Given the description of an element on the screen output the (x, y) to click on. 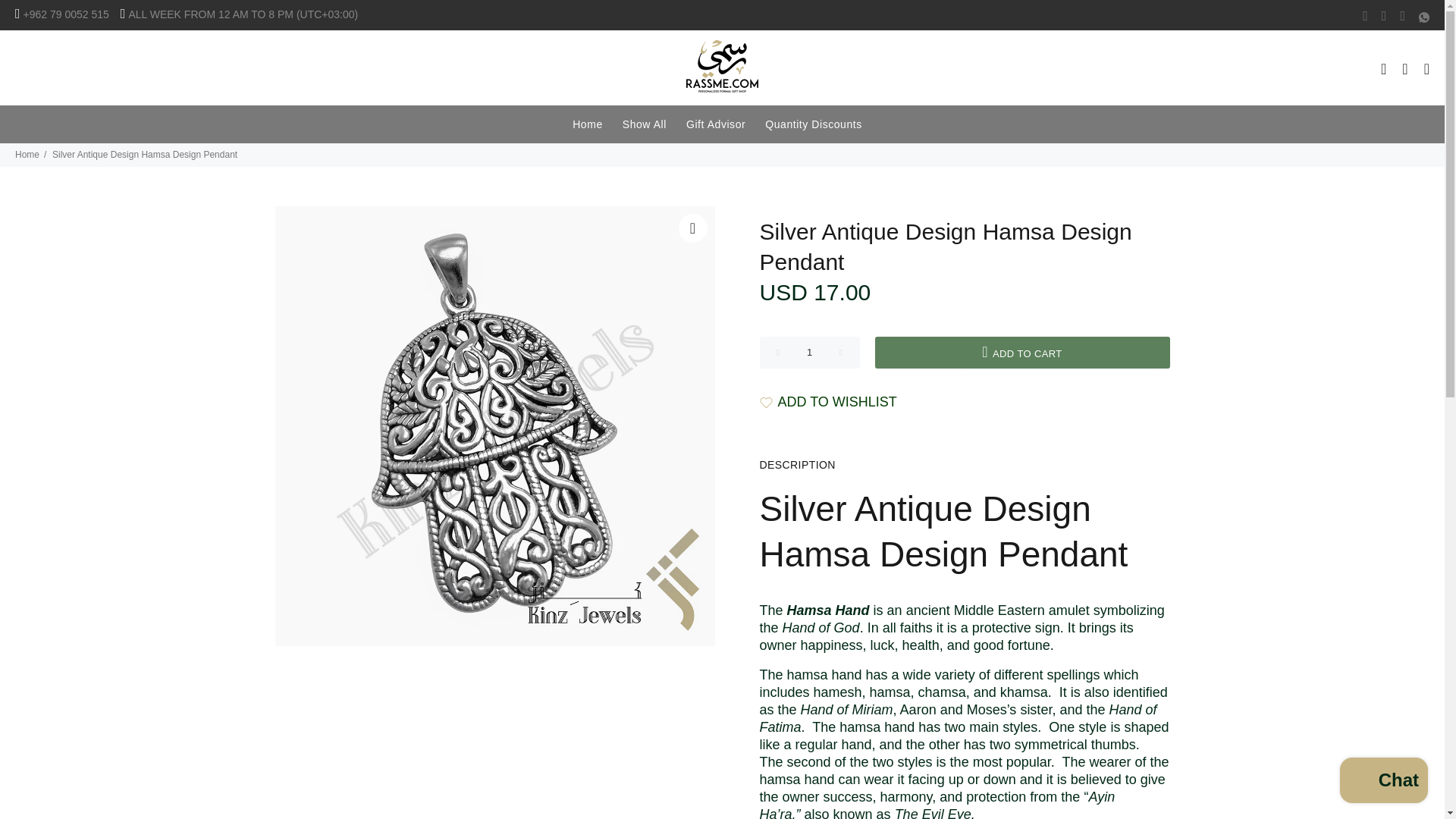
Gift Advisor (716, 124)
ADD TO CART (1022, 352)
1 (810, 352)
Quantity Discounts (813, 124)
Show All (644, 124)
Home (26, 154)
ADD TO WISHLIST (828, 401)
Home (587, 124)
Shopify online store chat (1383, 781)
